Given the description of an element on the screen output the (x, y) to click on. 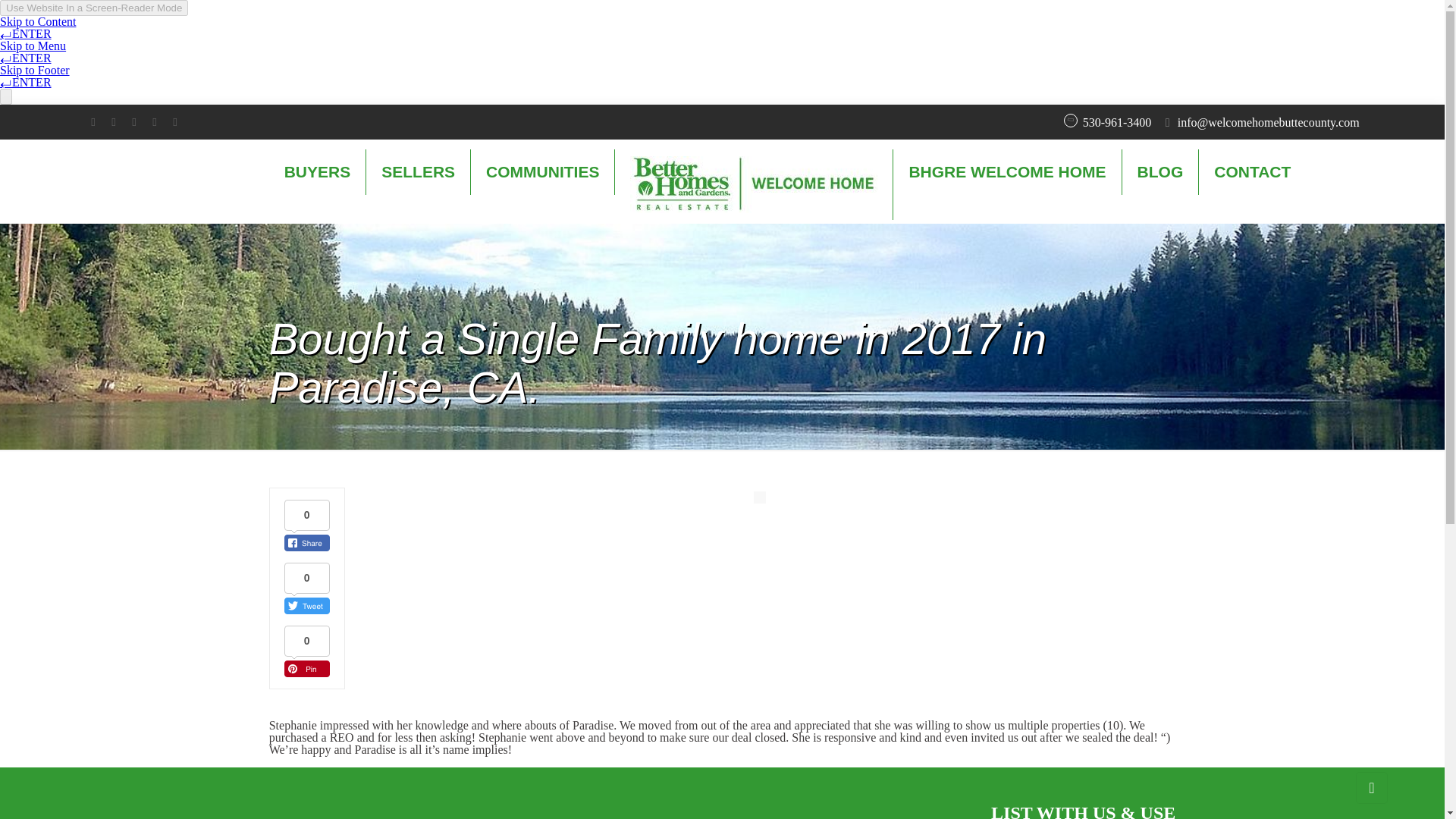
Twitter (133, 121)
LinkedIn (154, 121)
530-961-3400 (1117, 122)
COMMUNITIES (542, 171)
SELLERS (418, 171)
BUYERS (317, 171)
Instagram (175, 121)
Facebook (92, 121)
